Given the description of an element on the screen output the (x, y) to click on. 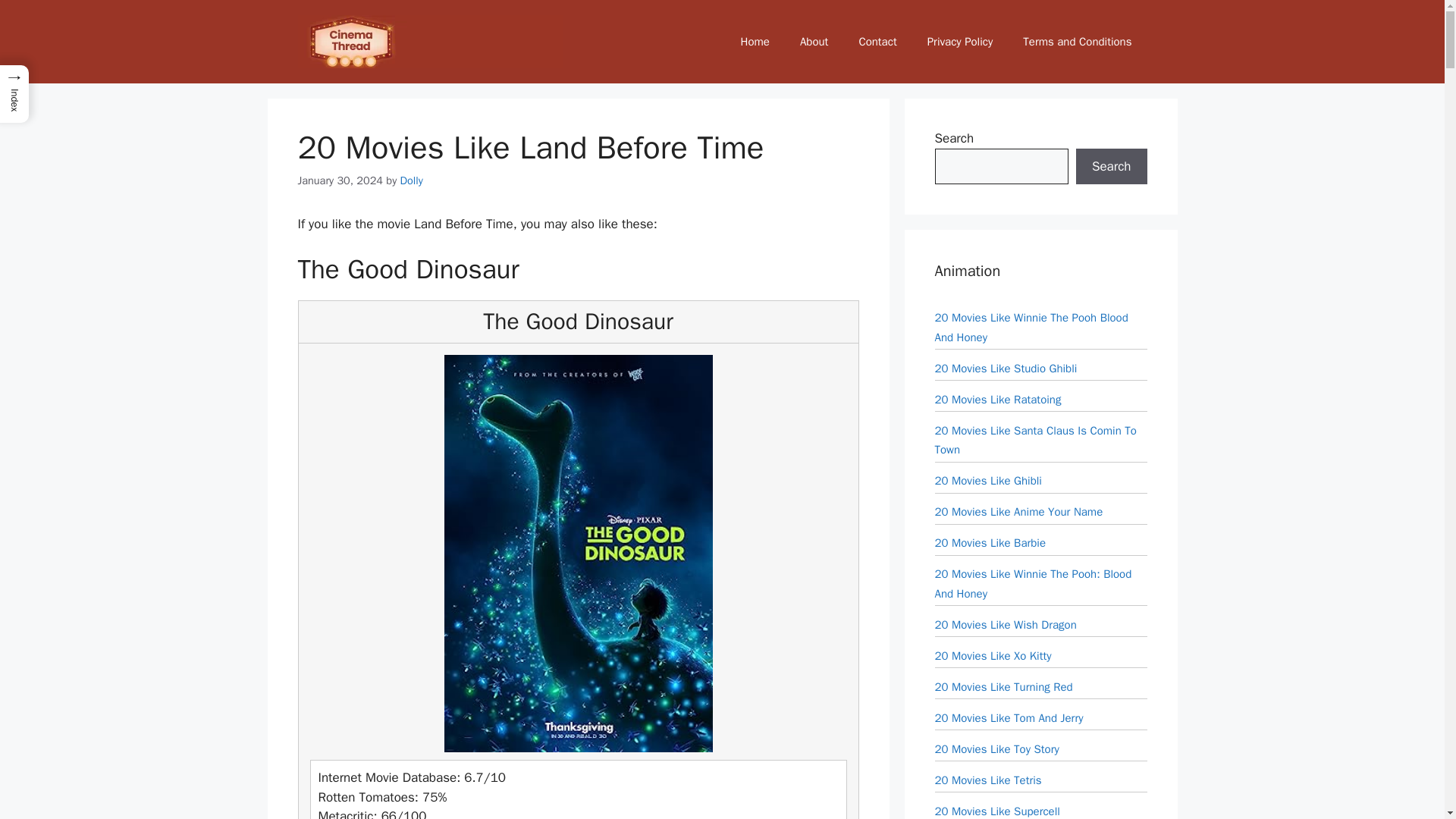
View all posts by Dolly (411, 180)
Terms and Conditions (1077, 41)
About (813, 41)
Contact (877, 41)
Privacy Policy (960, 41)
Dolly (411, 180)
Home (754, 41)
